Given the description of an element on the screen output the (x, y) to click on. 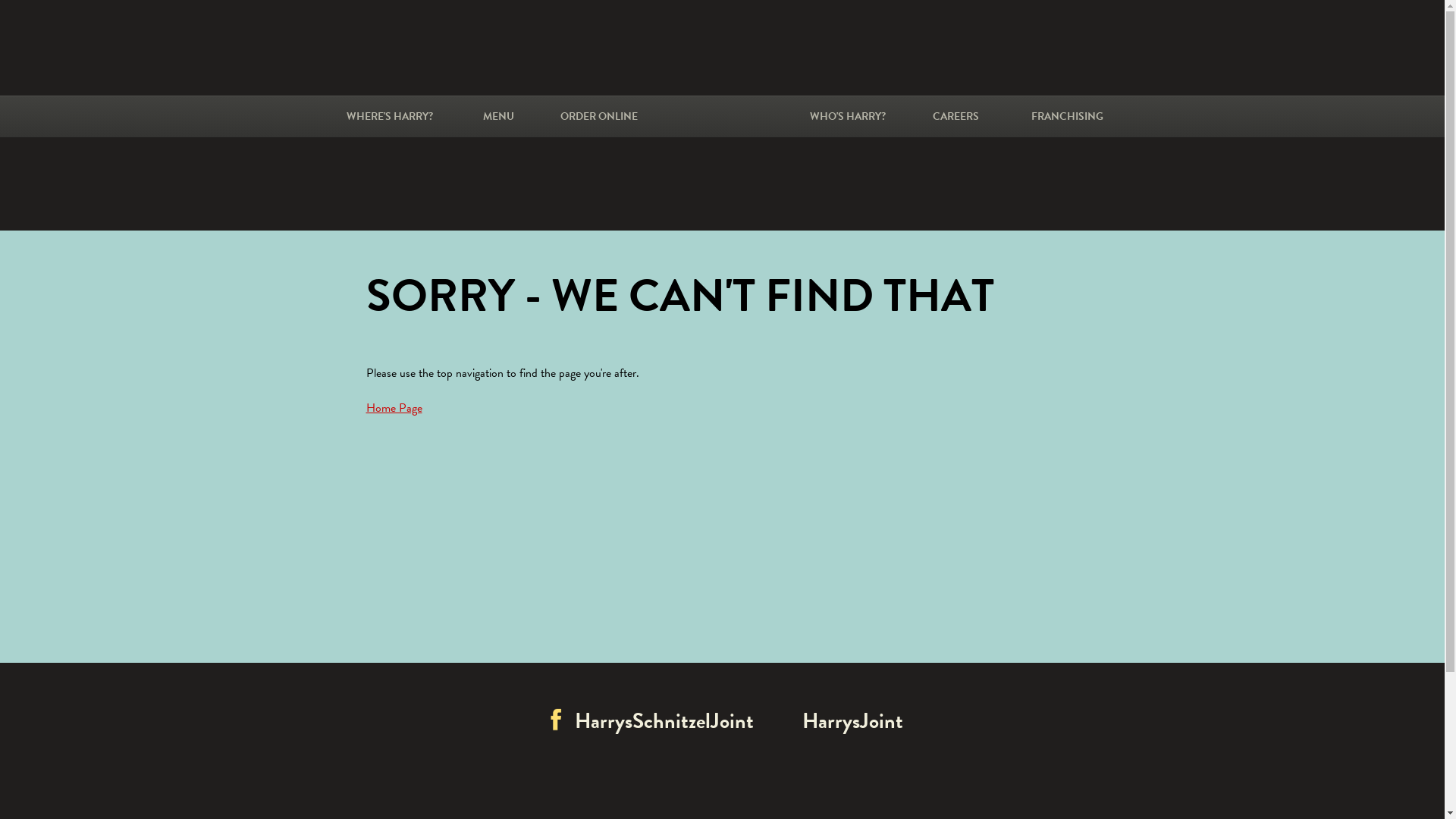
Home Page Element type: text (393, 407)
WHERE'S HARRY? Element type: text (388, 116)
MENU Element type: text (497, 116)
CAREERS Element type: text (955, 116)
ORDER ONLINE Element type: text (598, 116)
HarrysSchnitzelJoint Element type: text (608, 720)
FRANCHISING Element type: text (1066, 116)
WHO'S HARRY? Element type: text (847, 116)
HarrysJoint Element type: text (835, 720)
